Given the description of an element on the screen output the (x, y) to click on. 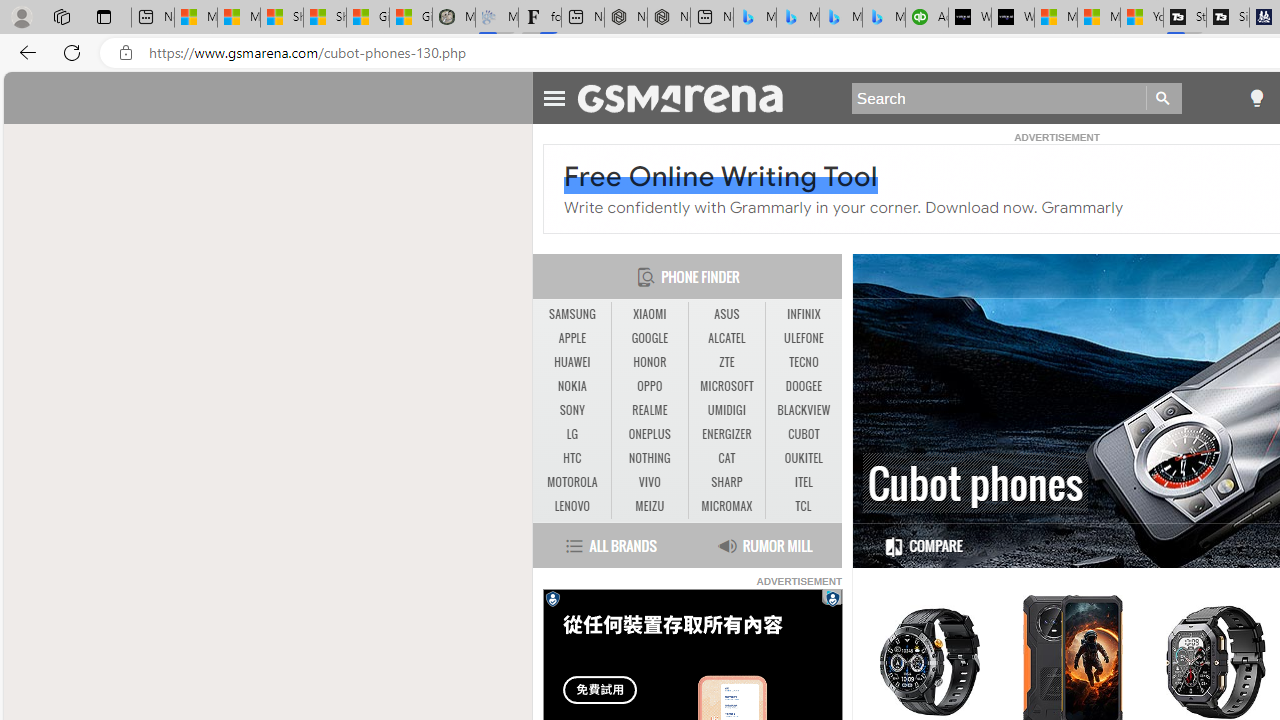
XIAOMI (649, 313)
AutomationID: button (552, 598)
SHARP (726, 482)
CAT (726, 457)
SAMSUNG (571, 313)
ULEFONE (803, 338)
DOOGEE (803, 386)
HONOR (649, 362)
HTC (571, 457)
Privacy Notification (552, 598)
BLACKVIEW (803, 411)
MICROSOFT (726, 385)
